Given the description of an element on the screen output the (x, y) to click on. 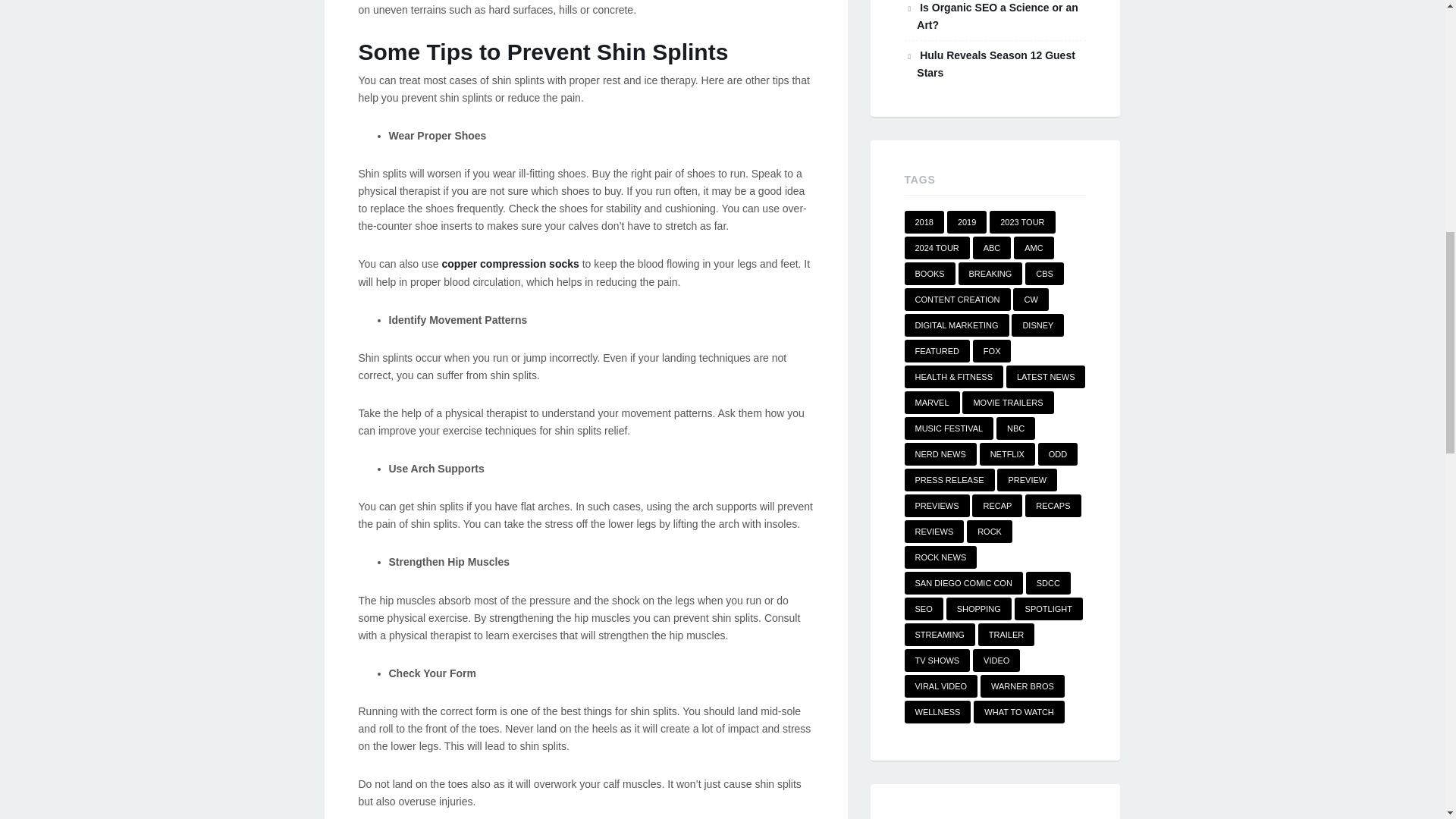
2019 (967, 221)
CBS (1044, 273)
BREAKING (990, 273)
ABC (991, 247)
Hulu Reveals Season 12 Guest Stars (996, 63)
BOOKS (929, 273)
CONTENT CREATION (957, 299)
2023 TOUR (1022, 221)
AMC (1032, 247)
2024 TOUR (936, 247)
